Given the description of an element on the screen output the (x, y) to click on. 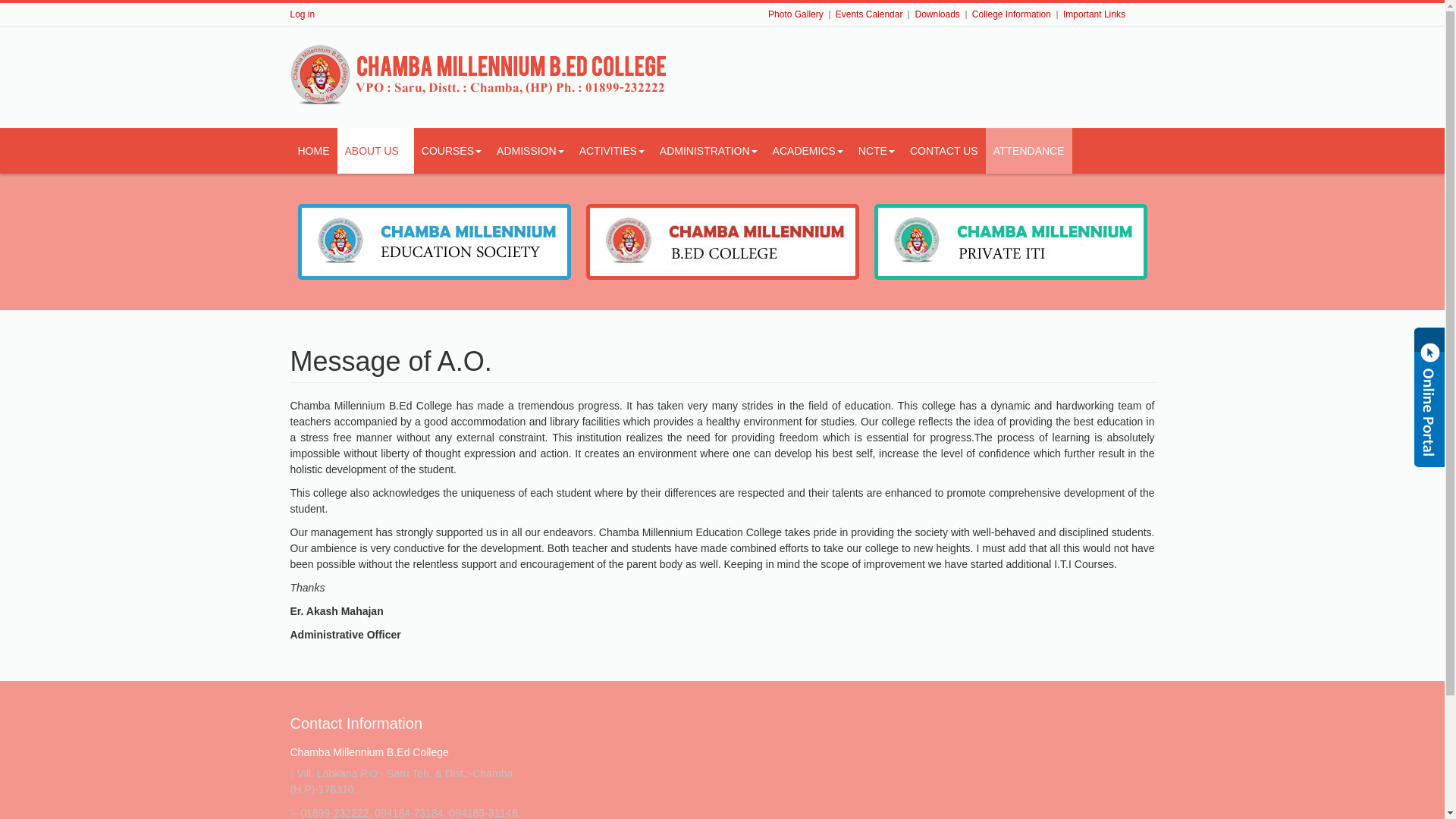
Important Links (1093, 13)
Downloads (936, 13)
HOME (312, 150)
Log in (301, 14)
Society (433, 241)
ITI (1010, 241)
College Information (1011, 13)
Events Calendar (868, 13)
Photo Gallery (796, 13)
College (722, 241)
Chamba Millennium Education Society (478, 75)
